Given the description of an element on the screen output the (x, y) to click on. 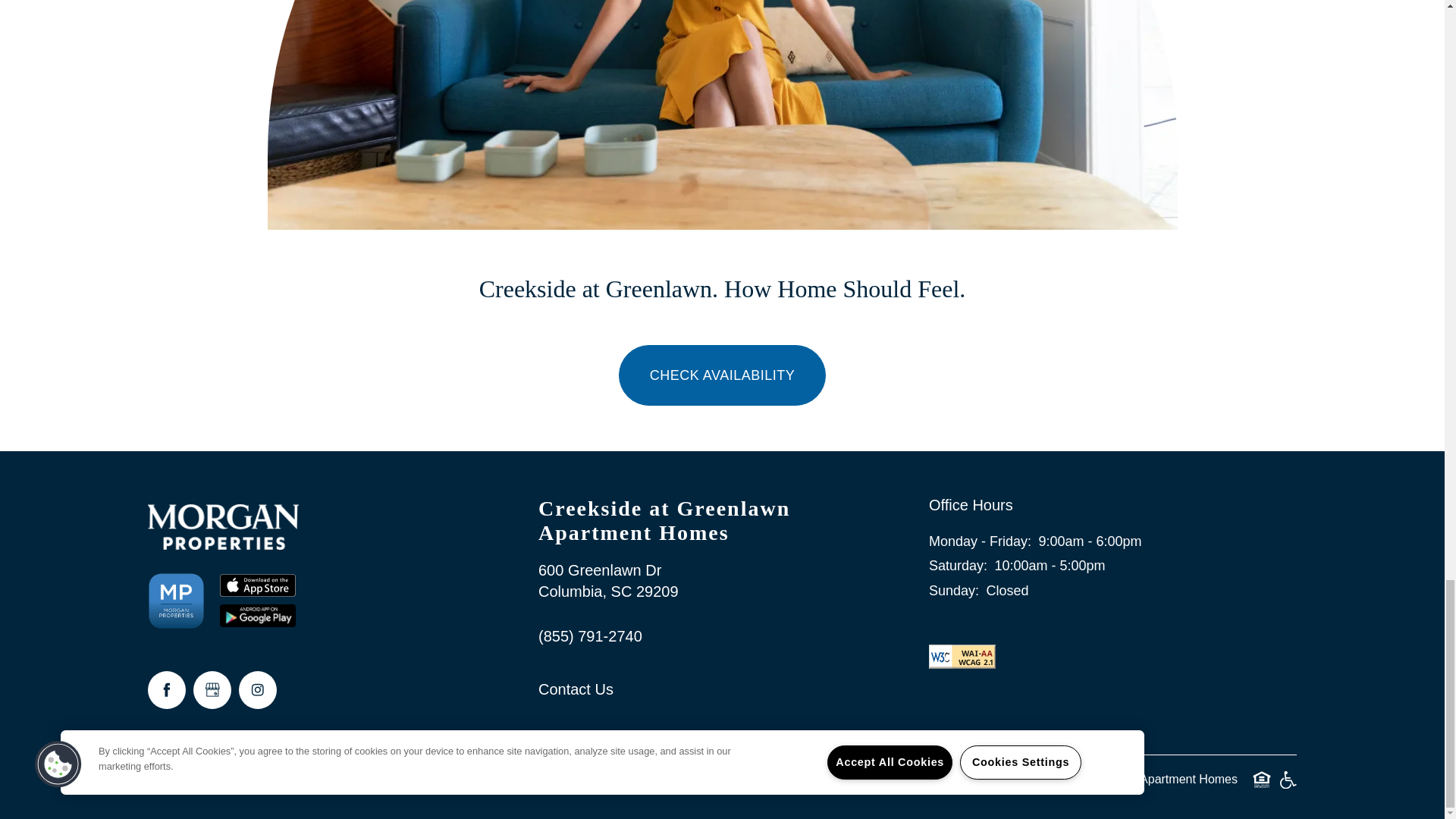
Privacy Policy (189, 779)
Google My Business (212, 689)
Property Phone Number (708, 636)
Instagram (257, 689)
Accessibility Statement (302, 779)
CHECK AVAILABILITY (721, 374)
Equal Opportunity Housing (1261, 779)
Contact Us (708, 689)
Explanation of WCAG 2 Level AA conformance (708, 580)
Handicap Friendly (961, 655)
